Given the description of an element on the screen output the (x, y) to click on. 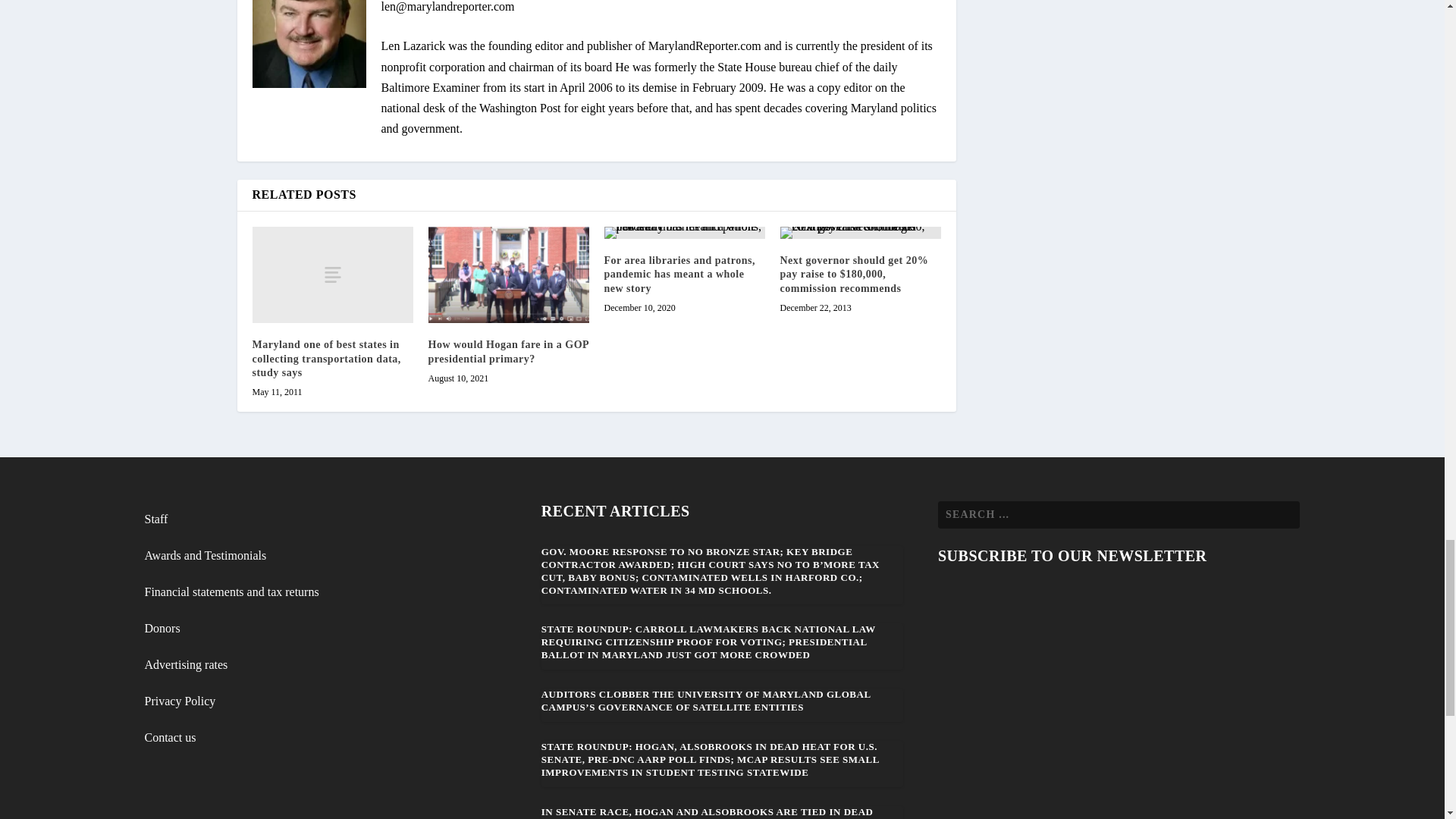
How would Hogan fare in a GOP presidential primary? (508, 351)
How would Hogan fare in a GOP presidential primary? (508, 274)
